Given the description of an element on the screen output the (x, y) to click on. 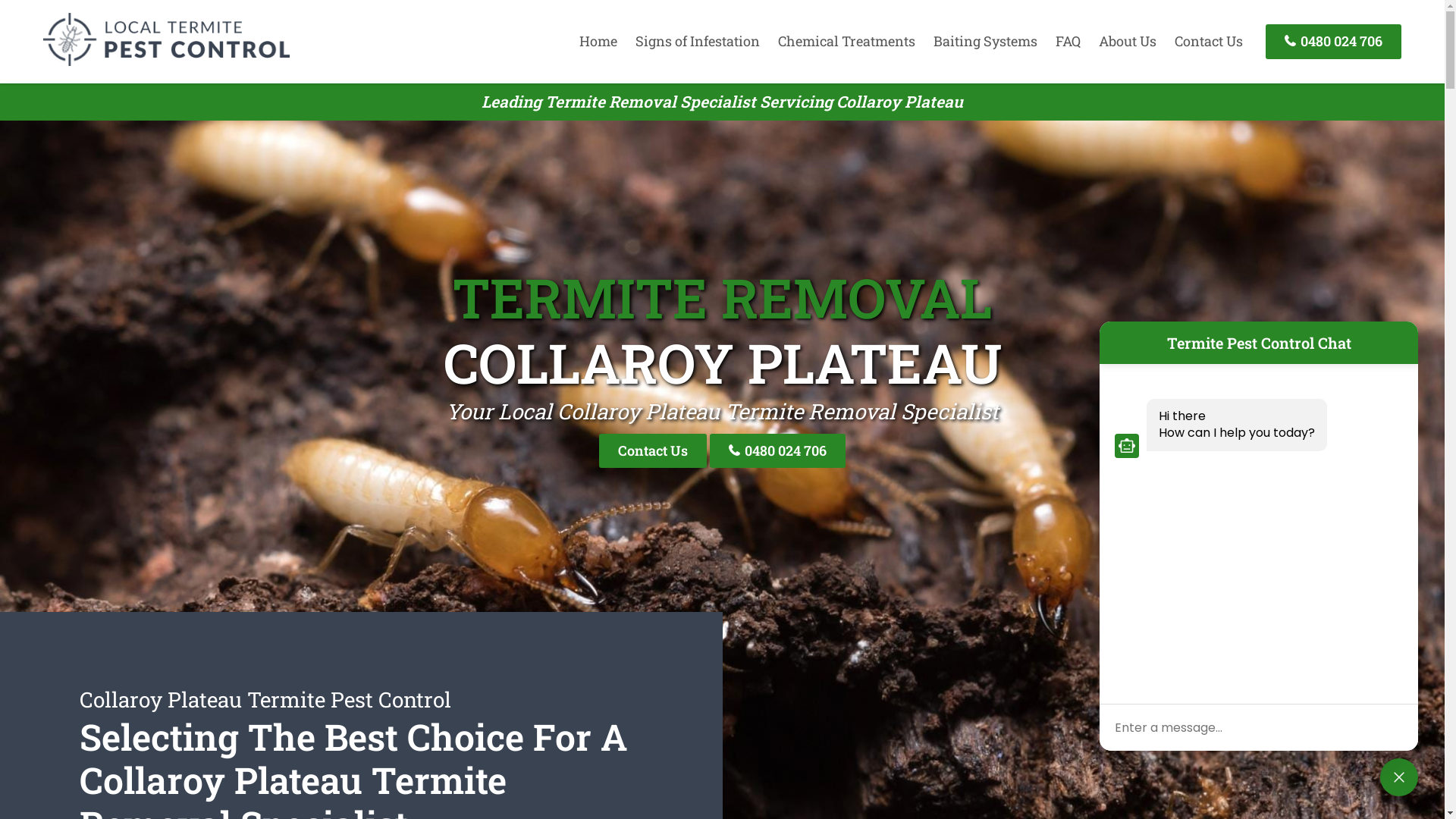
Baiting Systems Element type: text (984, 40)
Home Element type: text (597, 40)
Signs of Infestation Element type: text (697, 40)
Chemical Treatments Element type: text (846, 40)
FAQ Element type: text (1068, 40)
About Us Element type: text (1127, 40)
close Element type: text (1399, 777)
Termite Pest Control Element type: hover (166, 60)
Contact Us Element type: text (1208, 40)
0480 024 706 Element type: text (1333, 41)
0480 024 706 Element type: text (777, 450)
Contact Us Element type: text (652, 450)
